Given the description of an element on the screen output the (x, y) to click on. 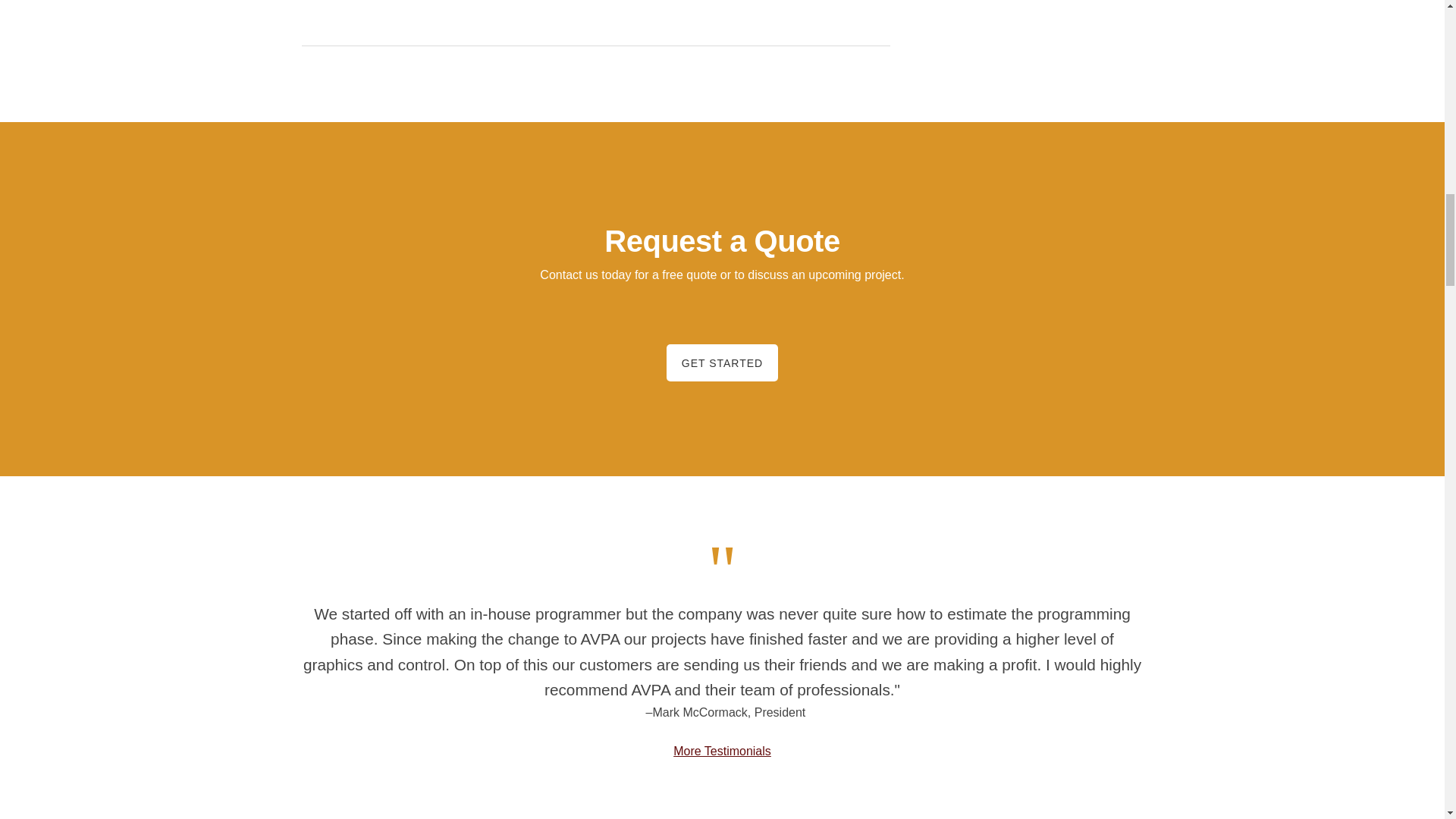
More Testimonials (721, 750)
GET STARTED (721, 362)
